Given the description of an element on the screen output the (x, y) to click on. 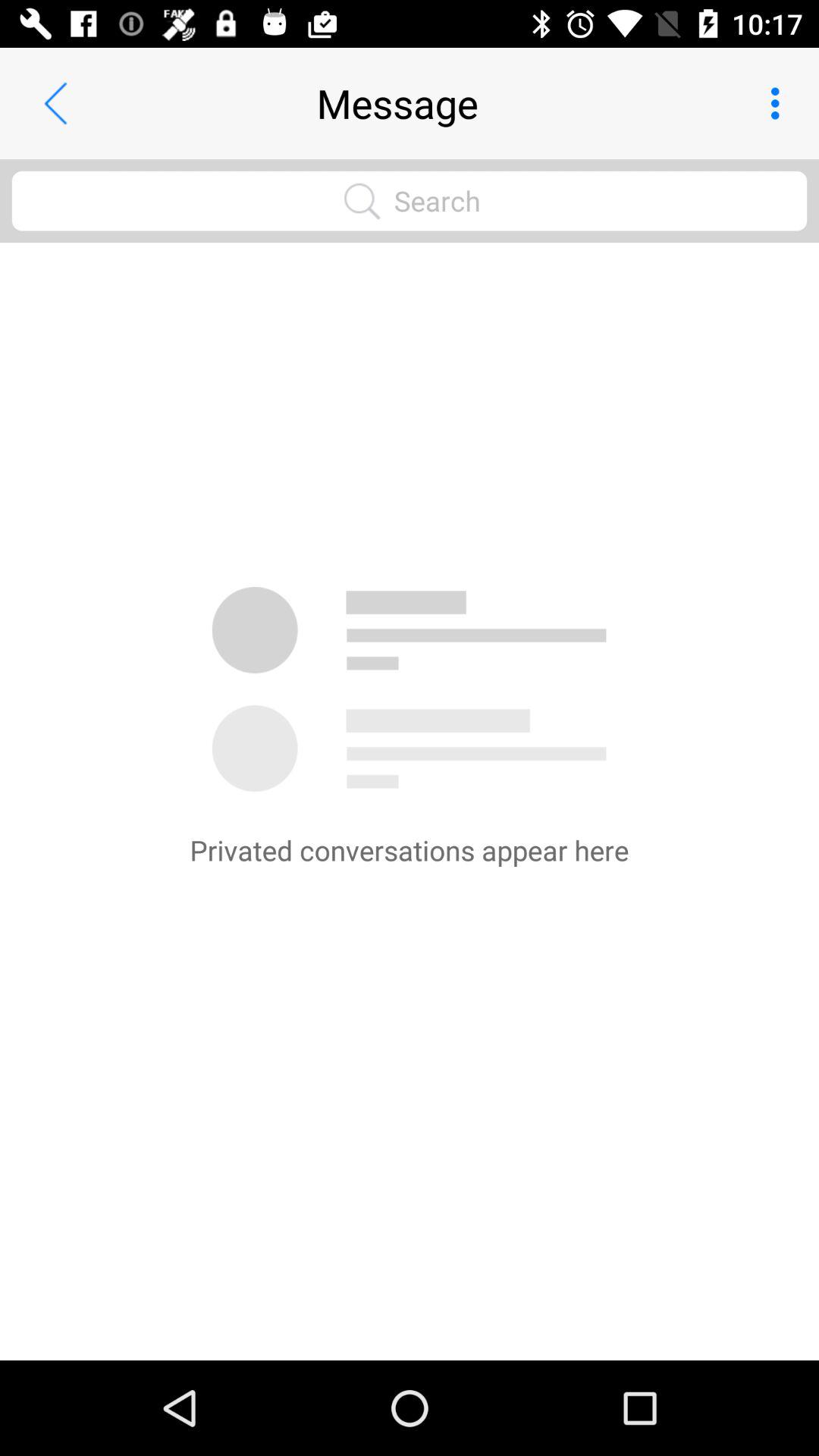
turn off item at the top right corner (779, 103)
